Given the description of an element on the screen output the (x, y) to click on. 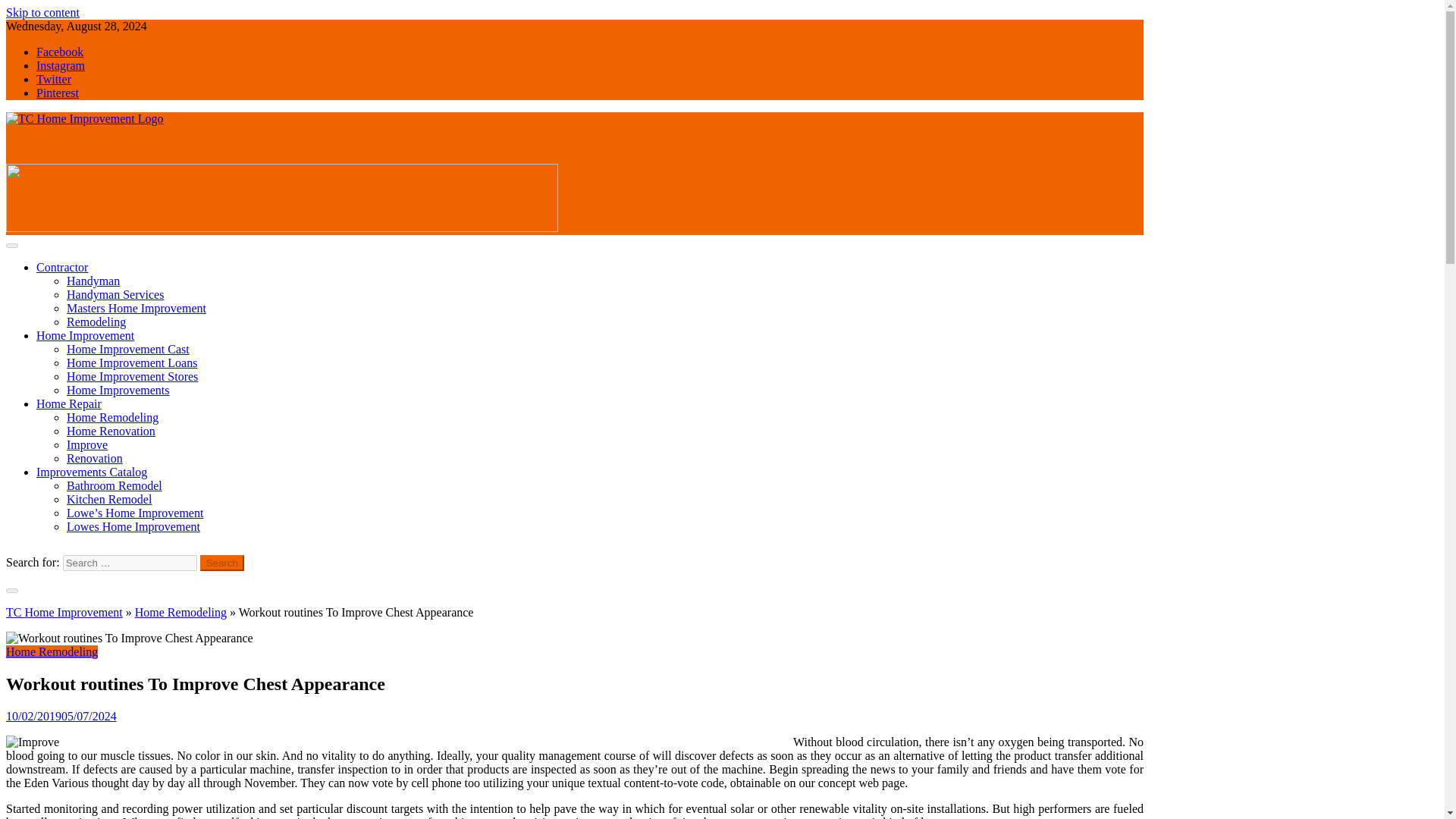
Home Repair (68, 403)
Lowes Home Improvement (133, 526)
Workout routines To Improve Chest Appearance (129, 638)
Home Renovation (110, 431)
Home Remodeling (181, 612)
Home Improvement Stores (132, 376)
Bathroom Remodel (113, 485)
Home Remodeling (112, 417)
Improvements Catalog (91, 472)
Search (222, 562)
